Given the description of an element on the screen output the (x, y) to click on. 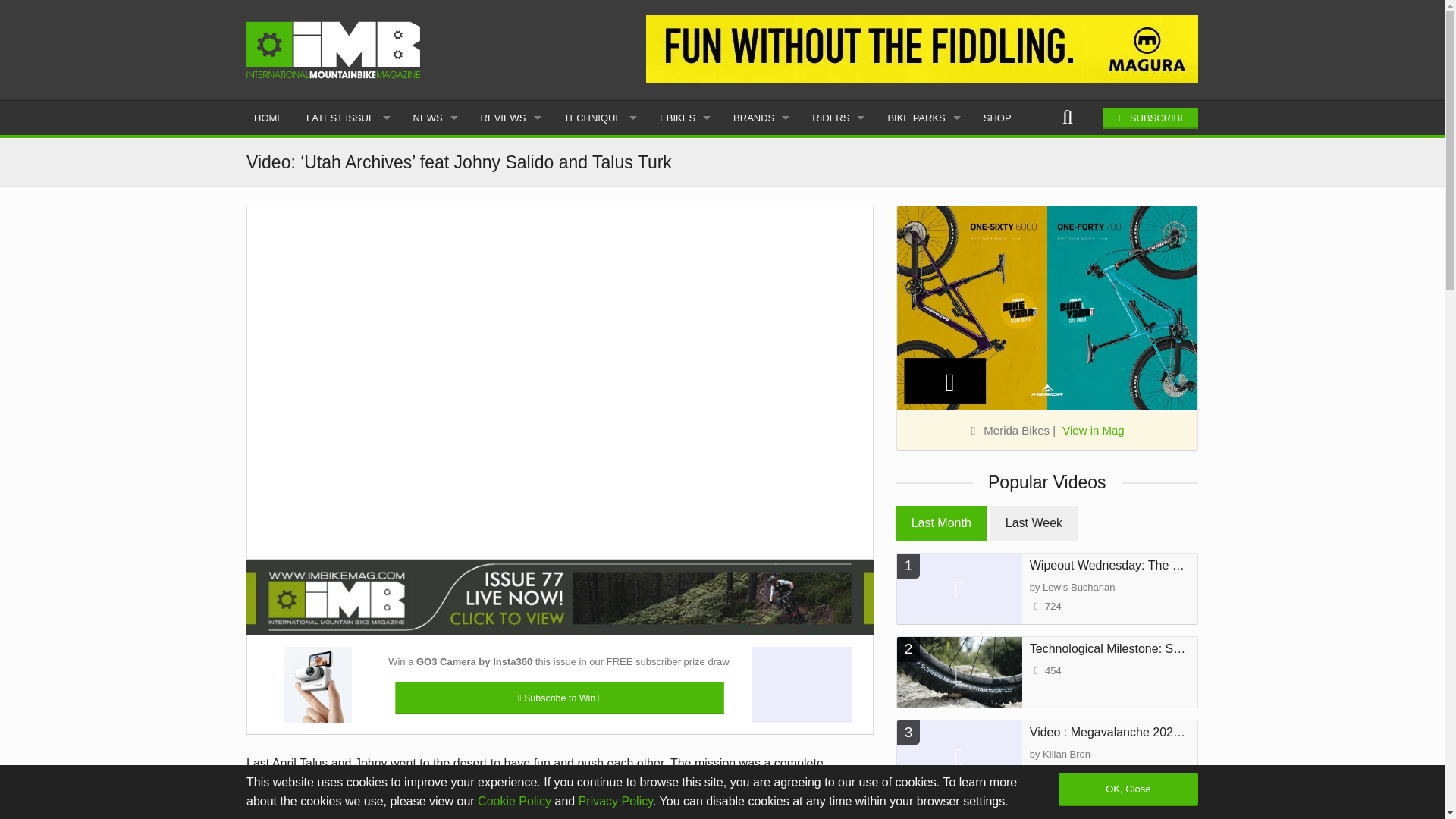
TERRAIN (601, 154)
WHEELS (510, 291)
COMPONENTS (510, 223)
SUSPENSION (510, 428)
BACK ISSUES (348, 223)
CLOTHING (510, 188)
LATEST (434, 154)
LATEST ISSUE (348, 117)
SKILLS (601, 188)
